Given the description of an element on the screen output the (x, y) to click on. 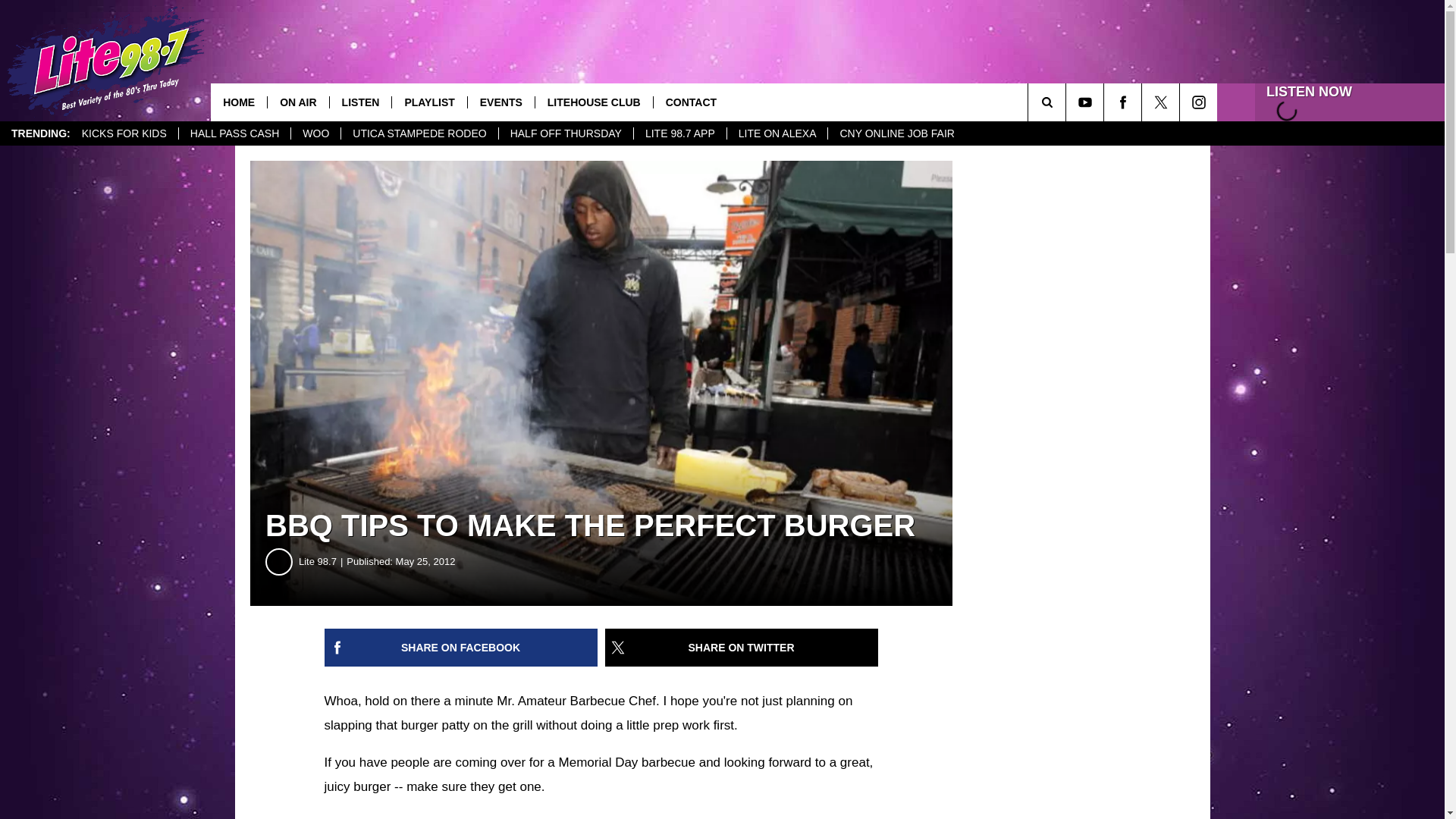
EVENTS (500, 102)
CONTACT (690, 102)
PLAYLIST (428, 102)
Share on Twitter (741, 647)
WOO (314, 133)
LITEHOUSE CLUB (593, 102)
HALF OFF THURSDAY (565, 133)
Share on Facebook (460, 647)
LITE 98.7 APP (679, 133)
HOME (238, 102)
